Given the description of an element on the screen output the (x, y) to click on. 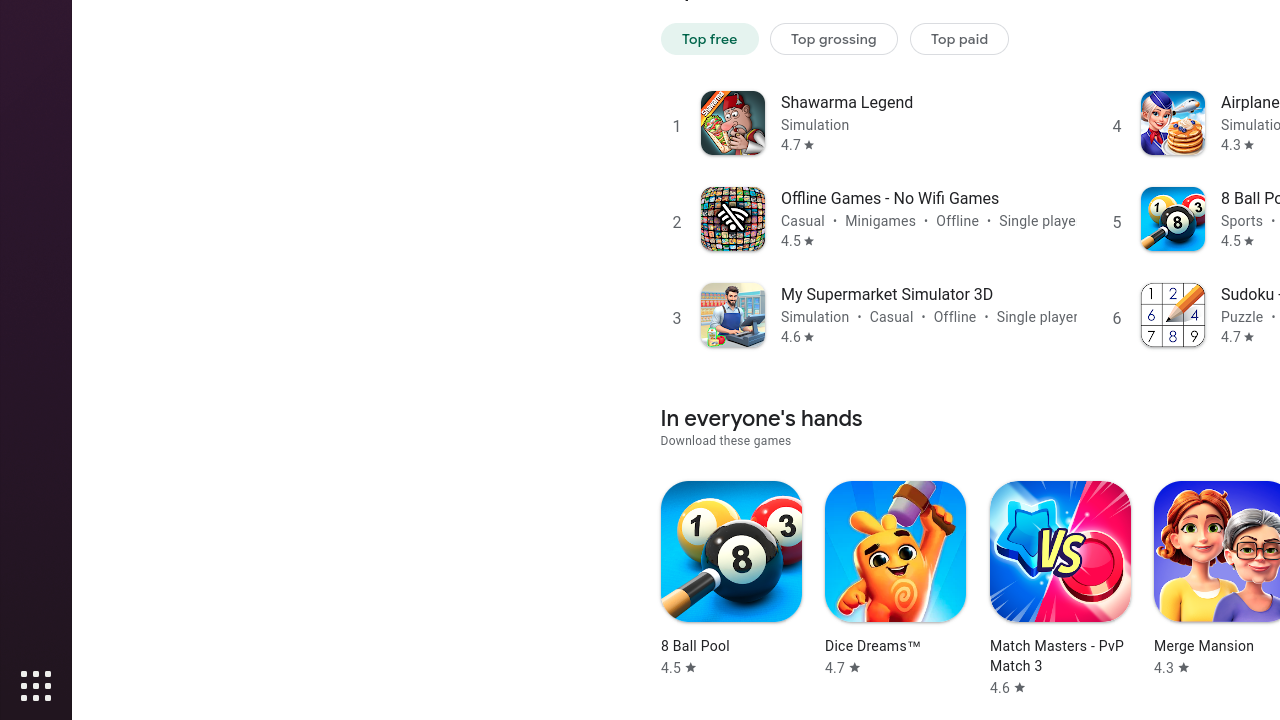
Rank 3 My Supermarket Simulator 3D Simulation • Casual • Offline • Single player Rated 4.6 stars out of five stars Element type: link (868, 314)
Rank 1 Shawarma Legend Simulation Rated 4.7 stars out of five stars Element type: link (868, 122)
8 Ball Pool Rated 4.5 stars out of five stars Element type: link (731, 579)
Show Applications Element type: toggle-button (36, 686)
Top grossing Element type: toggle-button (834, 38)
